Given the description of an element on the screen output the (x, y) to click on. 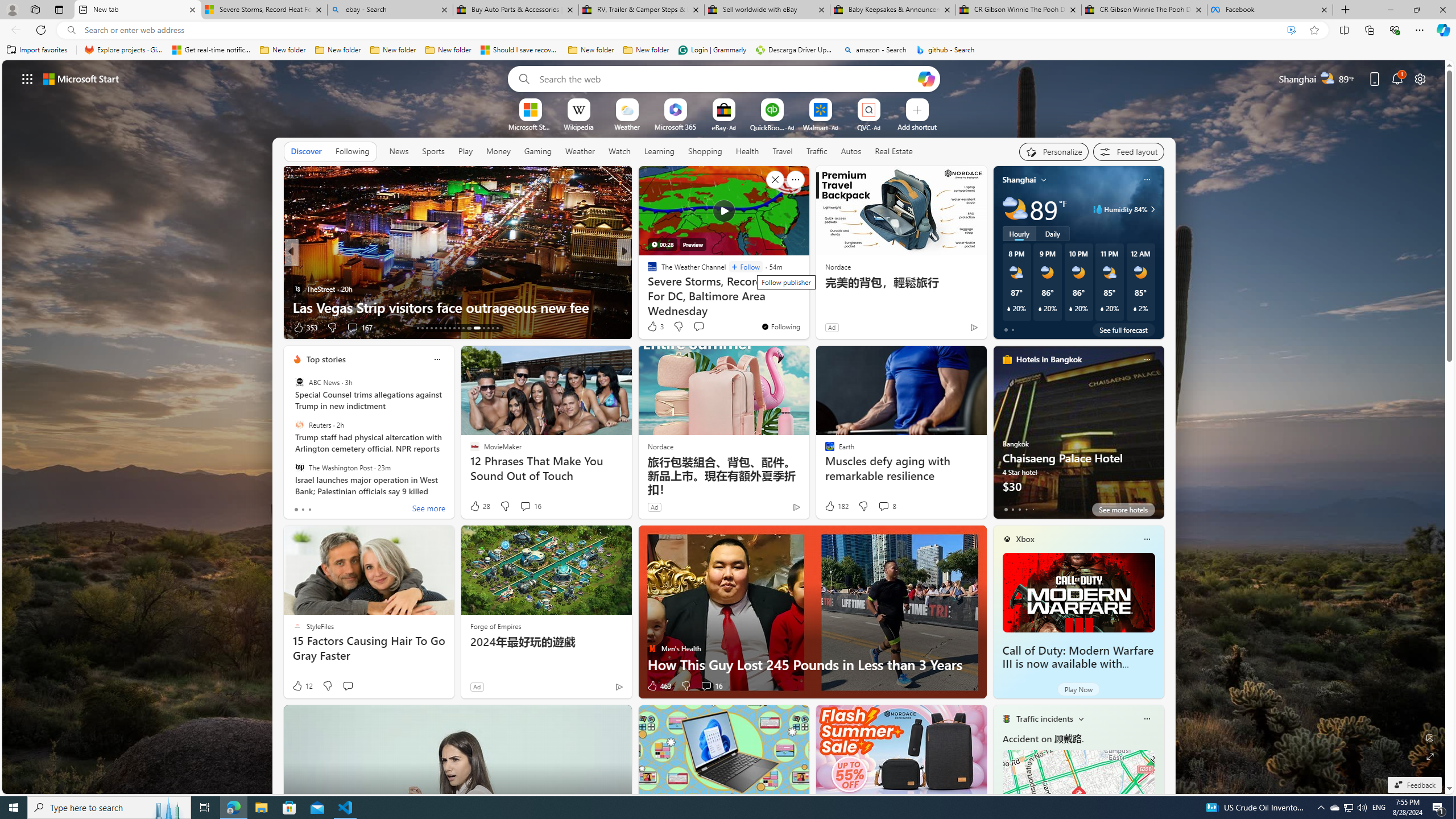
AutomationID: tab-16 (431, 328)
My location (1043, 179)
Traffic Title Traffic Light (1005, 718)
AutomationID: tab-17 (435, 328)
Microsoft 365 (675, 126)
Page settings (1420, 78)
tab-3 (1025, 509)
AutomationID: tab-21 (454, 328)
Feed settings (1128, 151)
Health (746, 151)
Buy Auto Parts & Accessories | eBay (515, 9)
News (398, 151)
New folder (646, 49)
